Given the description of an element on the screen output the (x, y) to click on. 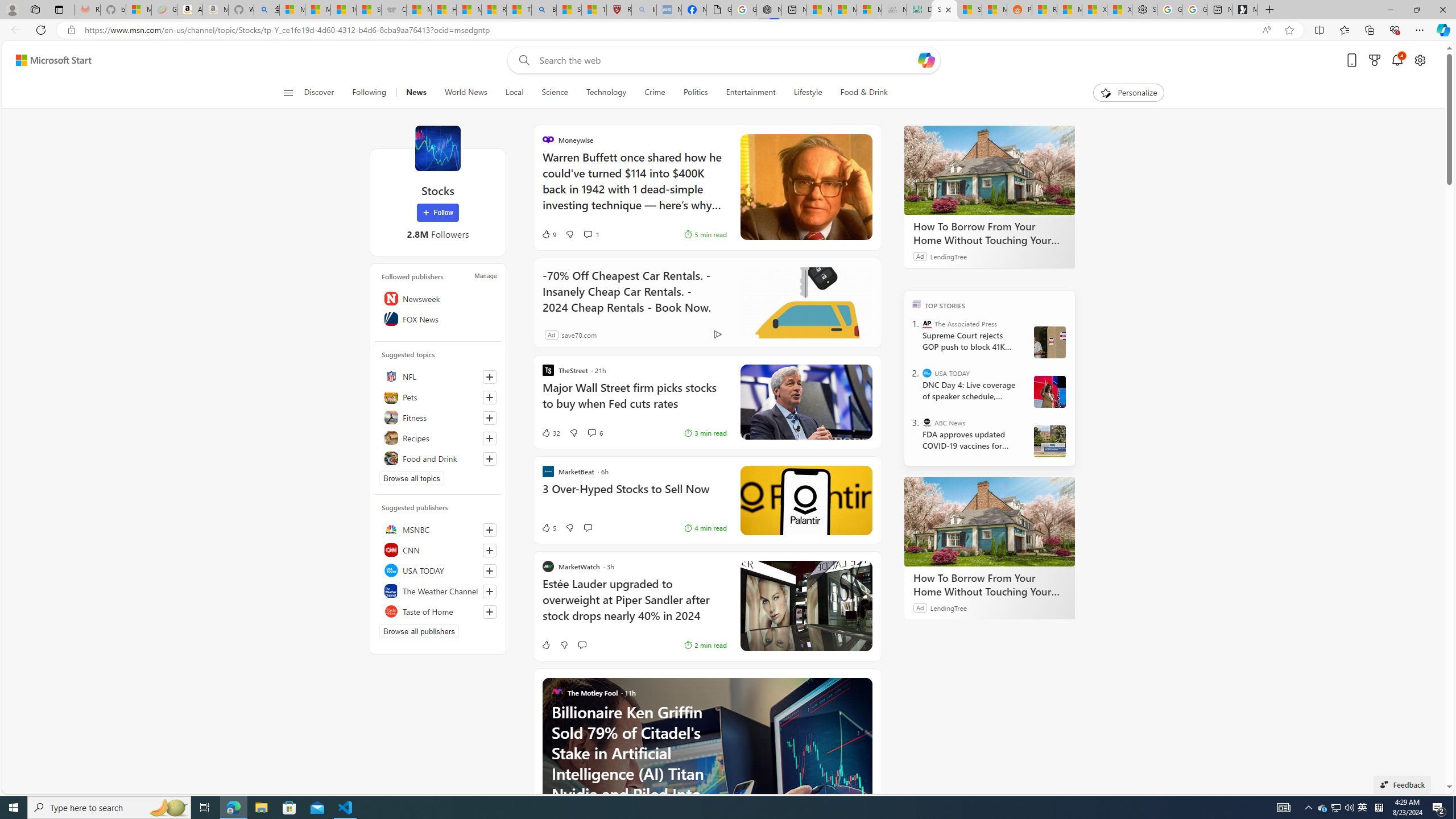
Microsoft rewards (1374, 60)
Skip to content (49, 59)
Like (544, 645)
Enter your search term (726, 59)
Microsoft-Report a Concern to Bing (137, 9)
Politics (694, 92)
USA TODAY (437, 570)
